Given the description of an element on the screen output the (x, y) to click on. 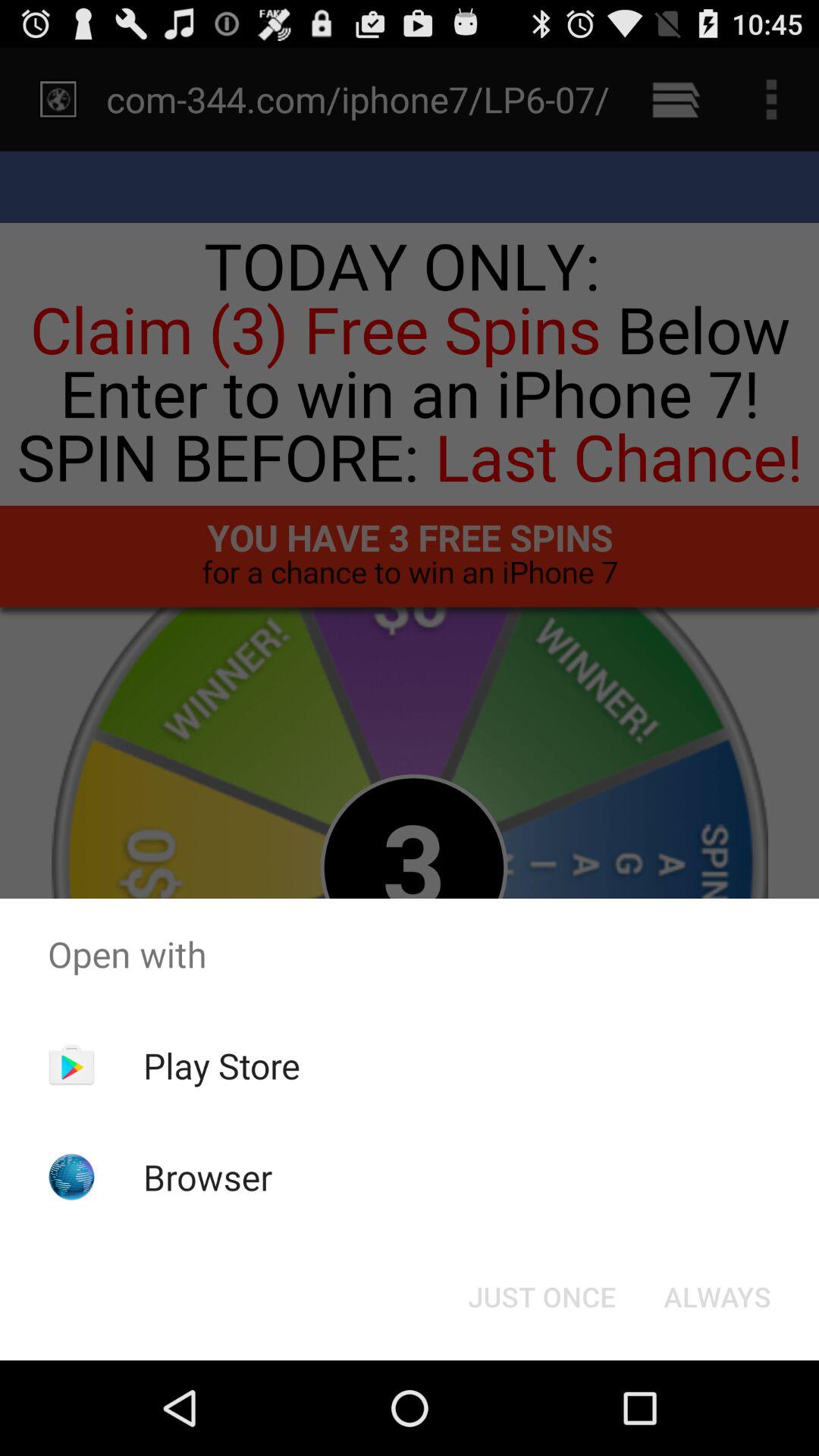
select the button at the bottom (541, 1296)
